Given the description of an element on the screen output the (x, y) to click on. 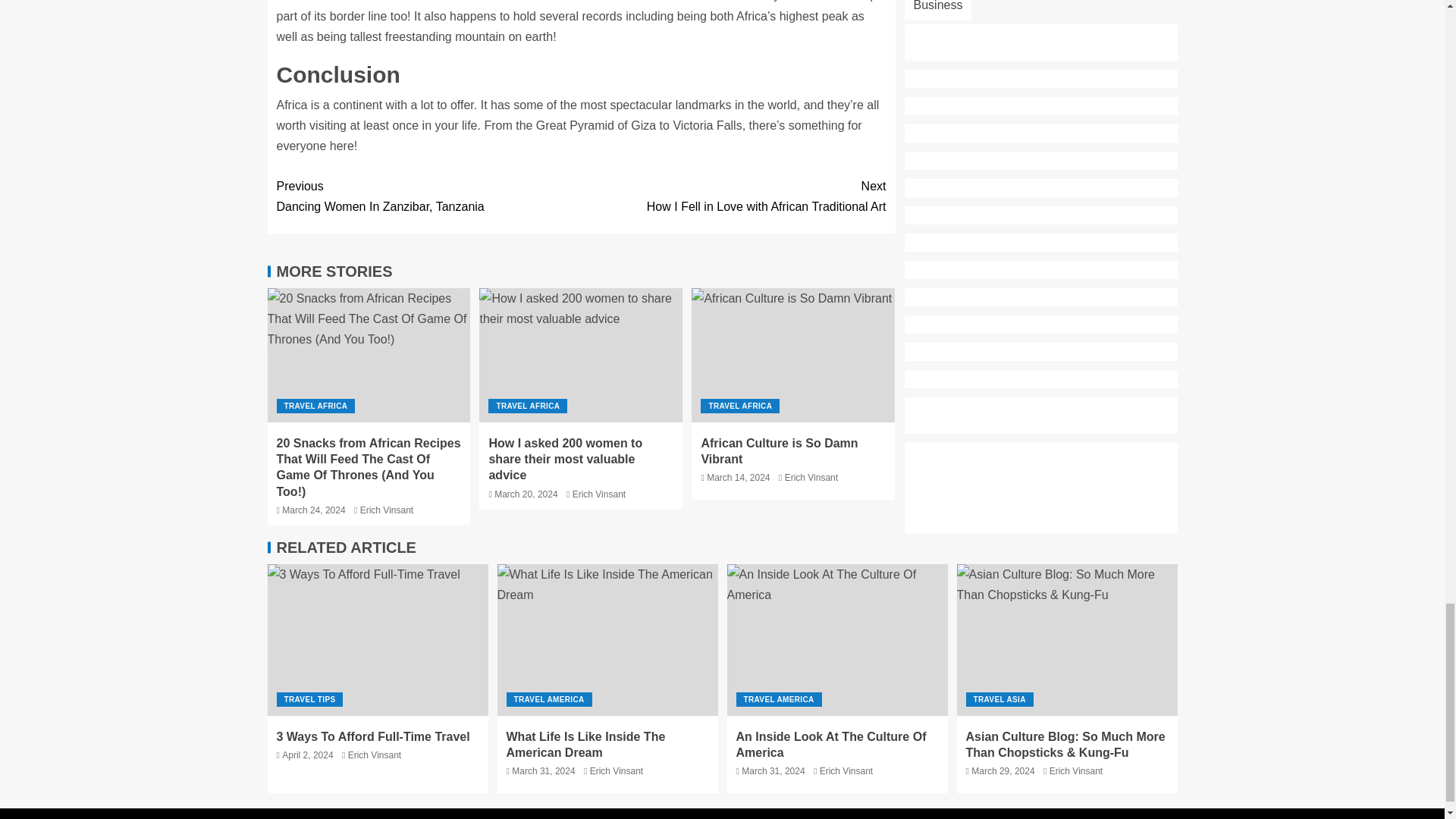
How I asked 200 women to share their most valuable advice (580, 355)
TRAVEL AFRICA (315, 405)
